Given the description of an element on the screen output the (x, y) to click on. 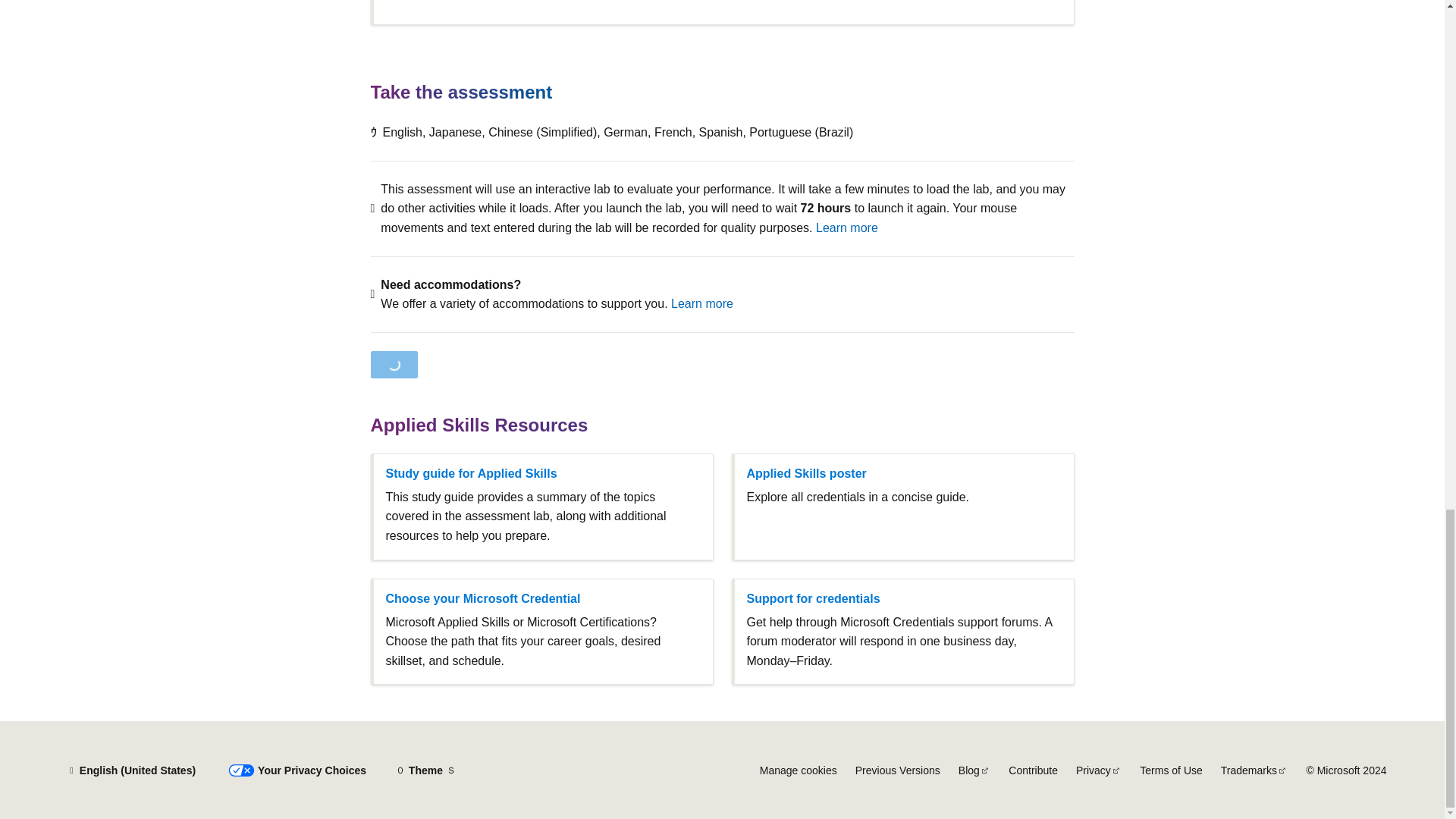
Theme (425, 770)
